Given the description of an element on the screen output the (x, y) to click on. 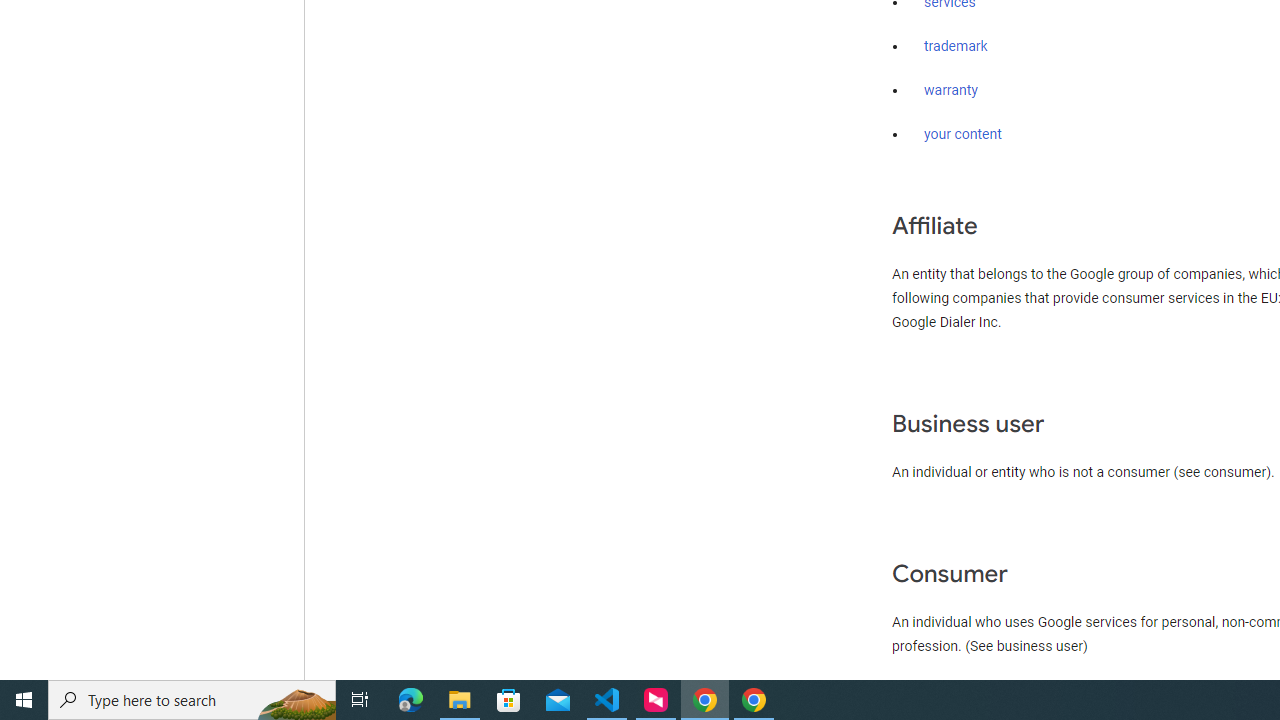
warranty (950, 91)
trademark (956, 47)
your content (963, 134)
